Given the description of an element on the screen output the (x, y) to click on. 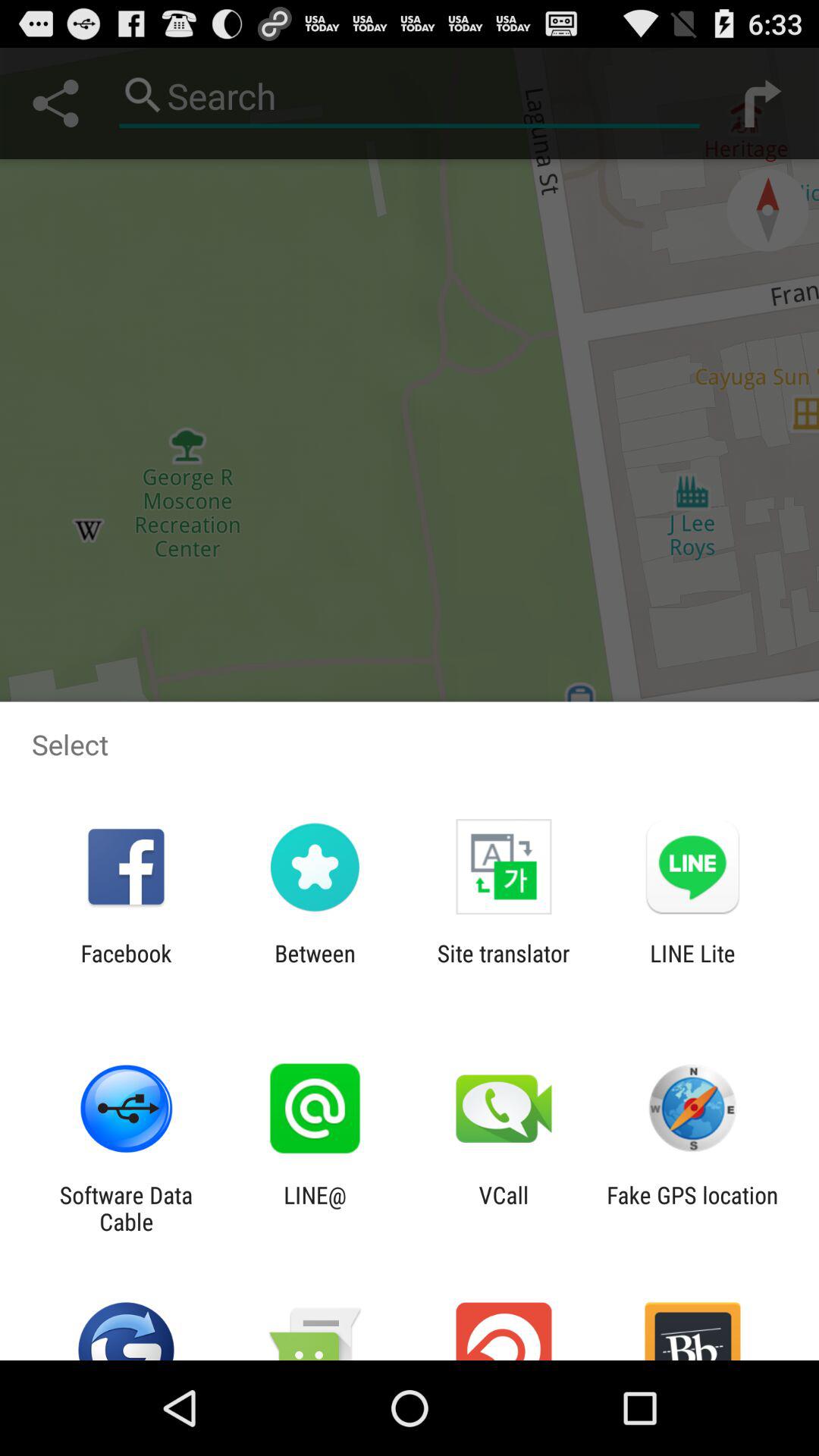
open the site translator (503, 966)
